Given the description of an element on the screen output the (x, y) to click on. 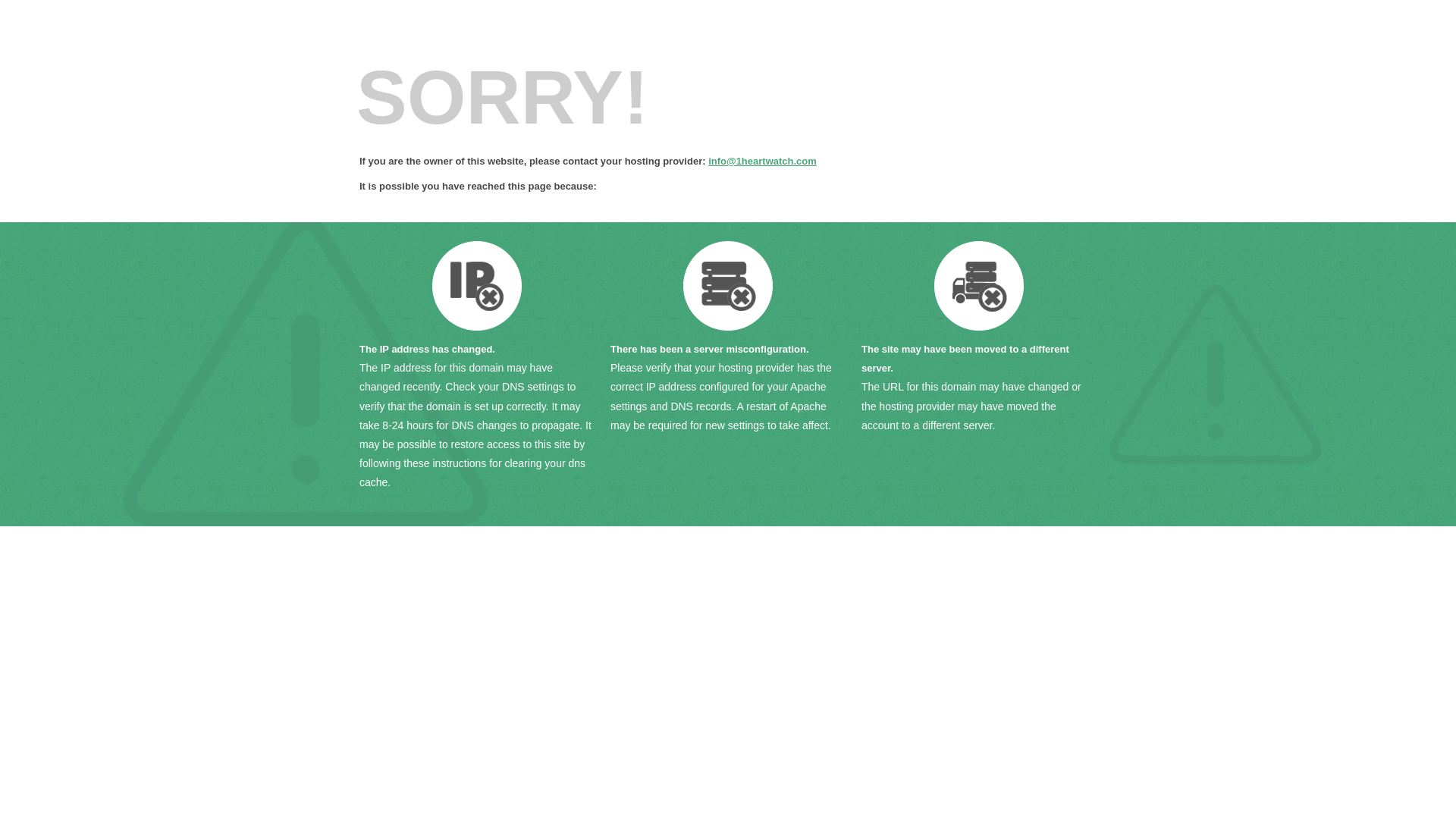
info@1heartwatch.com Element type: text (762, 160)
